Given the description of an element on the screen output the (x, y) to click on. 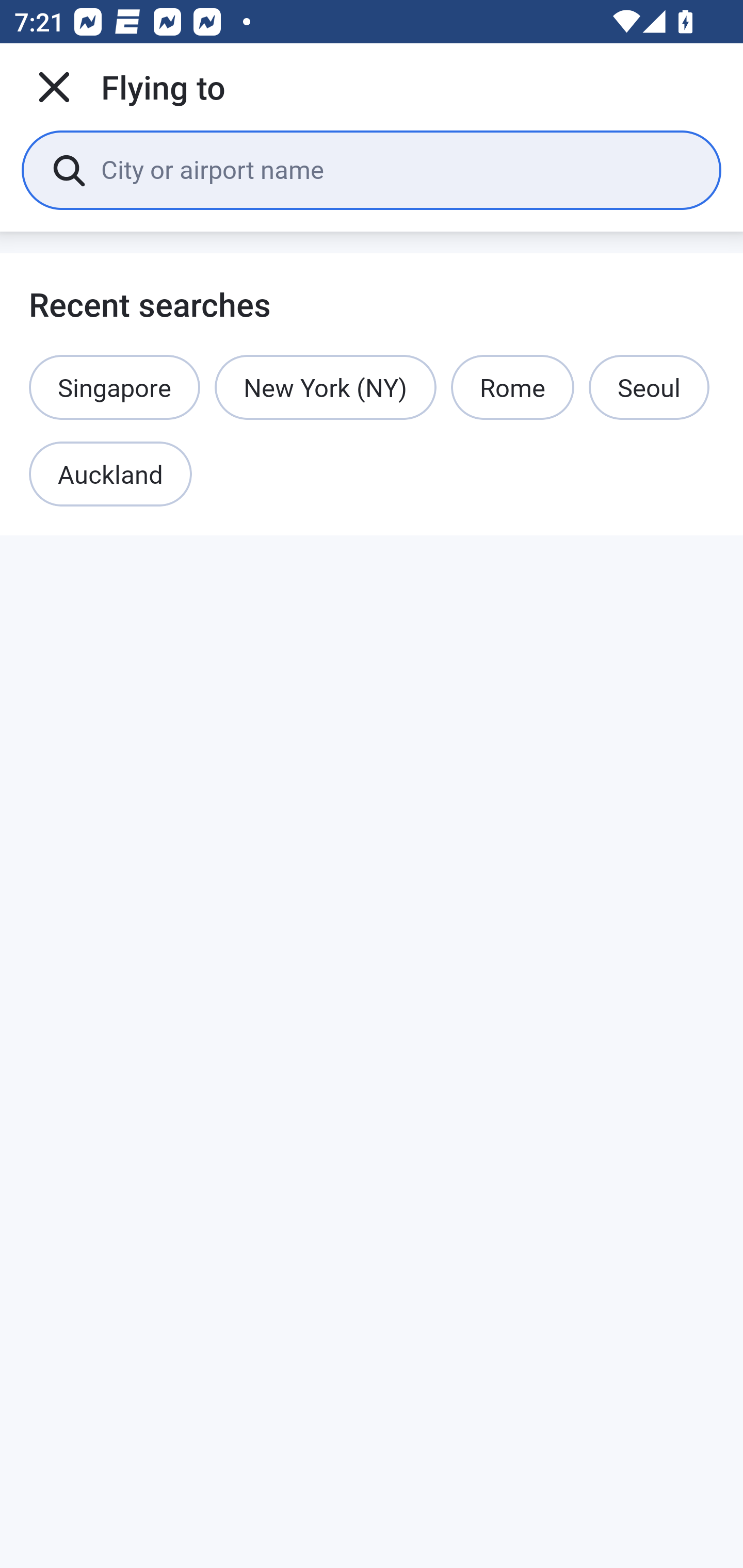
City or airport name (396, 169)
Singapore (113, 387)
New York (NY) (325, 387)
Rome (512, 387)
Seoul (648, 387)
Auckland (109, 474)
